Given the description of an element on the screen output the (x, y) to click on. 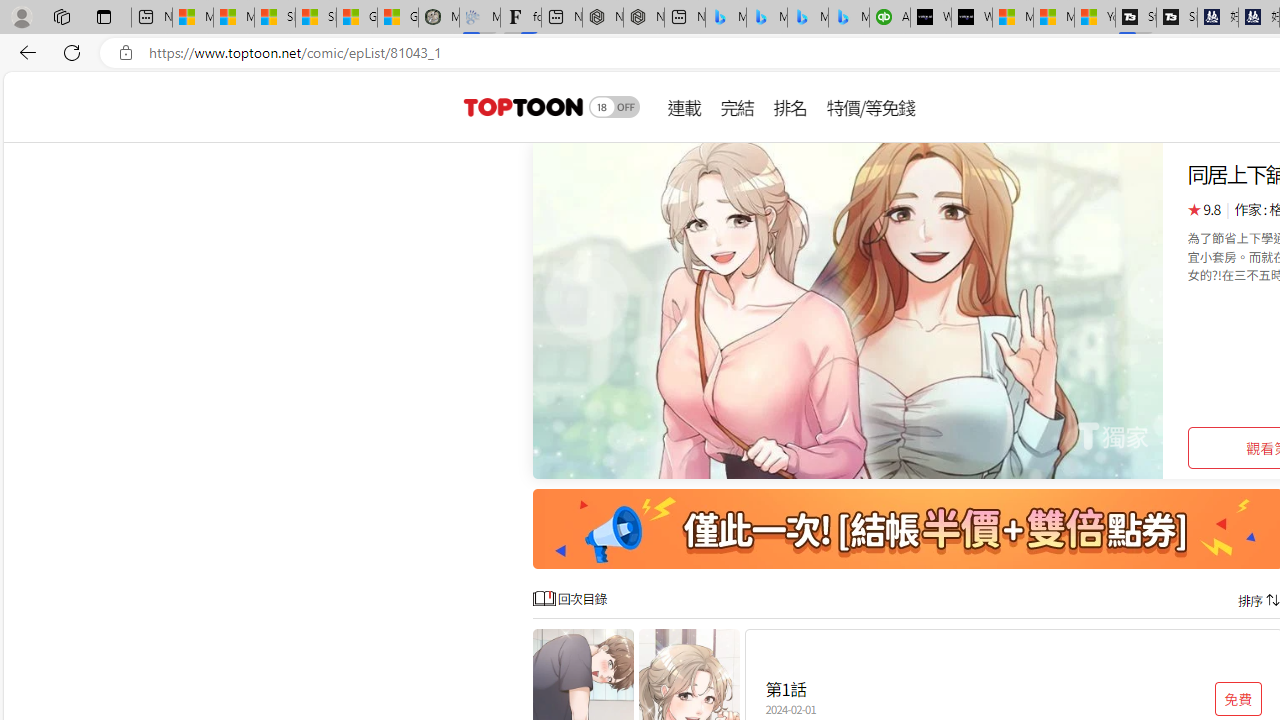
header (519, 106)
Microsoft Bing Travel - Stays in Bangkok, Bangkok, Thailand (767, 17)
